Given the description of an element on the screen output the (x, y) to click on. 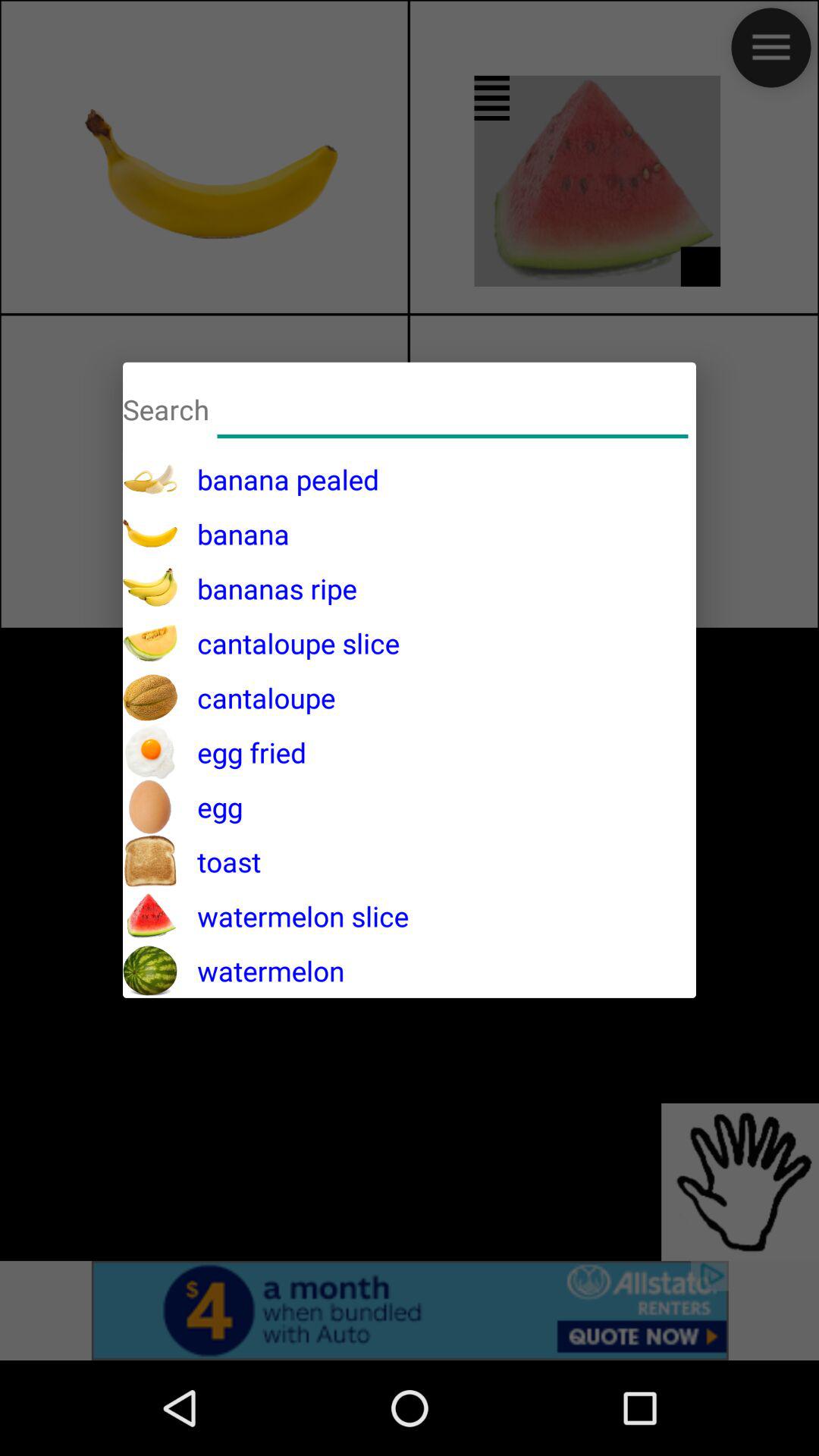
select bananas ripe icon (267, 588)
